Given the description of an element on the screen output the (x, y) to click on. 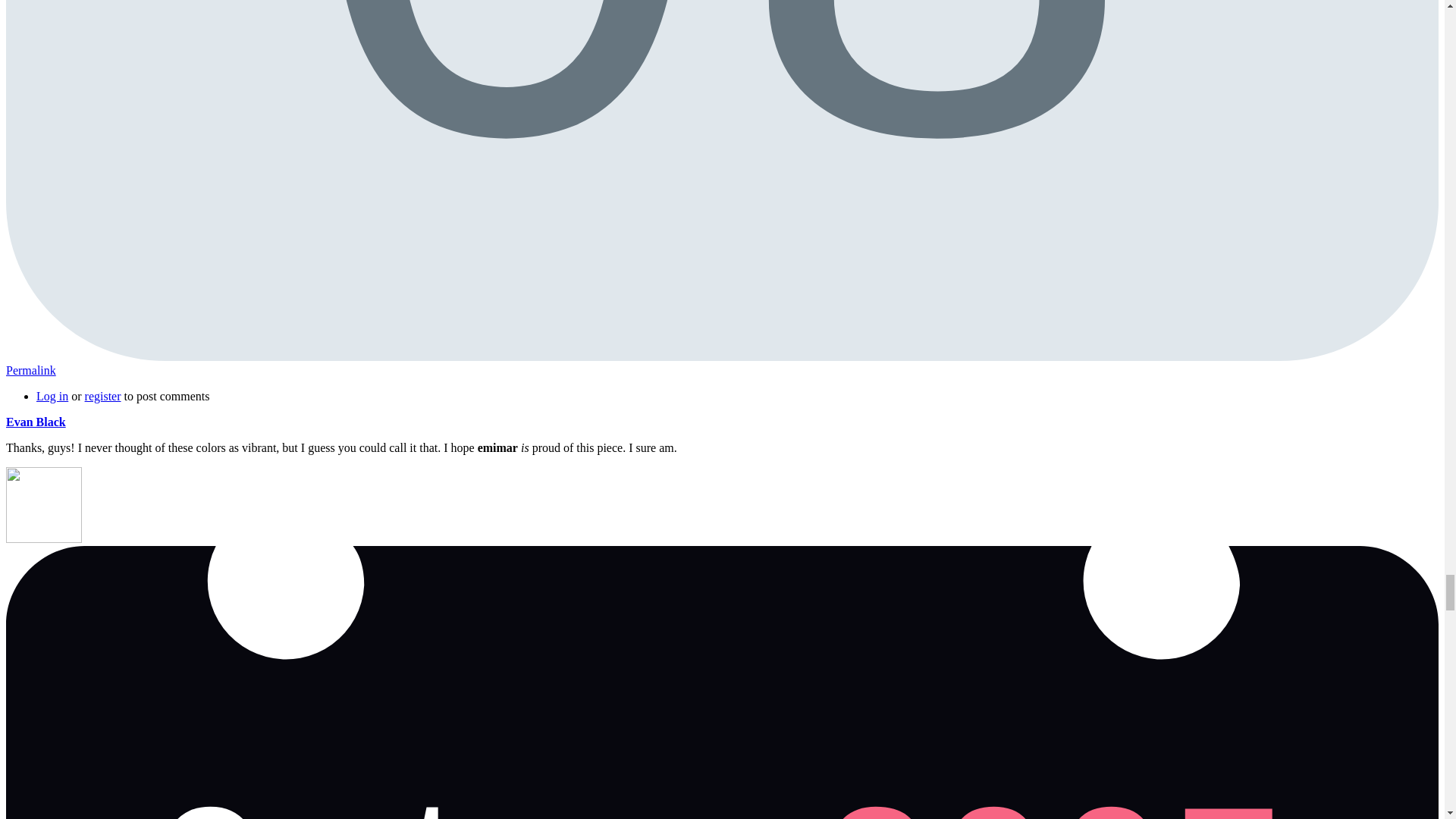
View user profile. (35, 421)
